Given the description of an element on the screen output the (x, y) to click on. 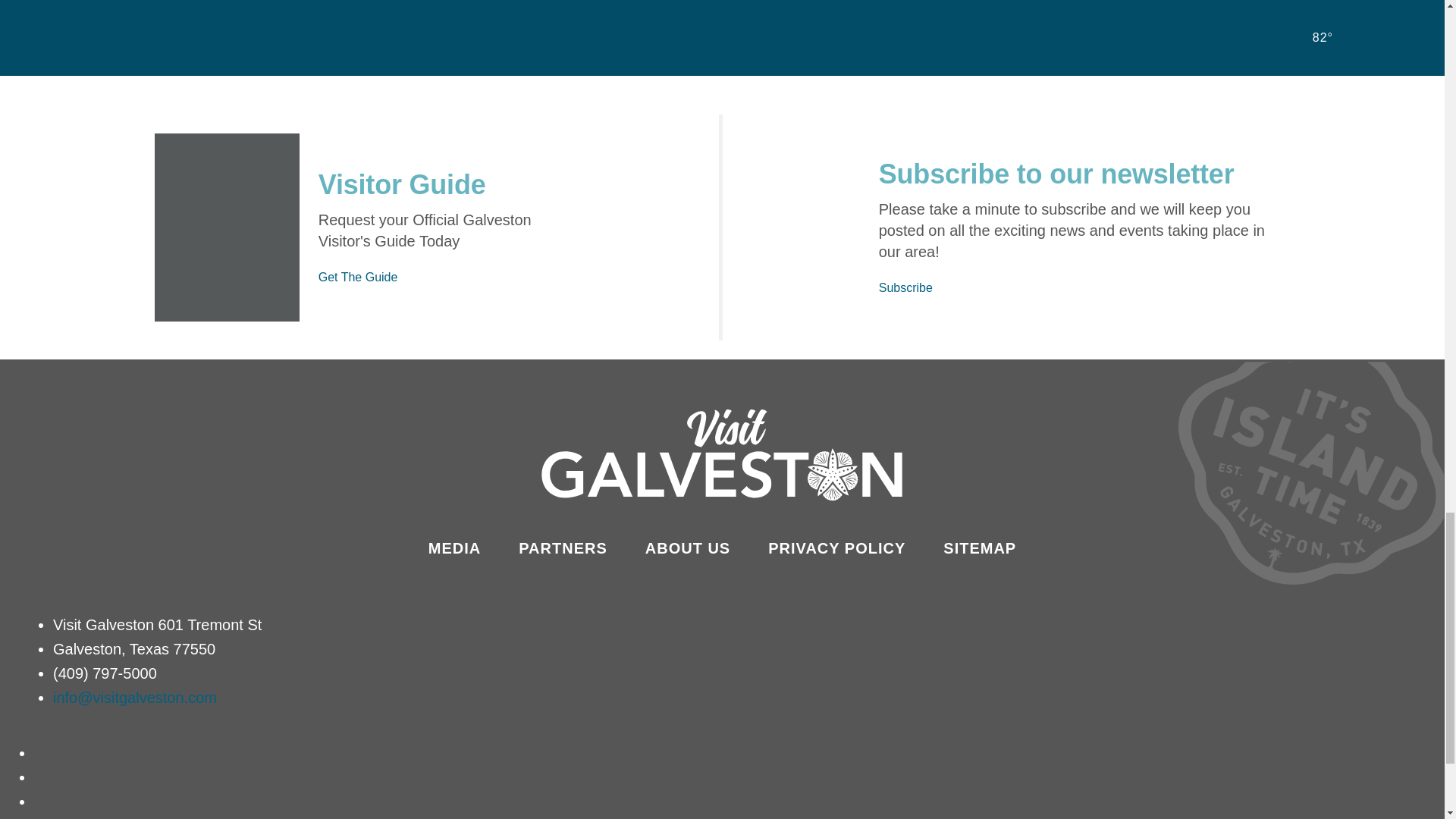
Instagram (42, 777)
PRIVACY POLICY (836, 548)
Subscribe (906, 287)
SITEMAP (979, 548)
MEDIA (454, 548)
Twitter (42, 801)
ABOUT US (687, 548)
PARTNERS (562, 548)
Get The Guide (357, 277)
